Given the description of an element on the screen output the (x, y) to click on. 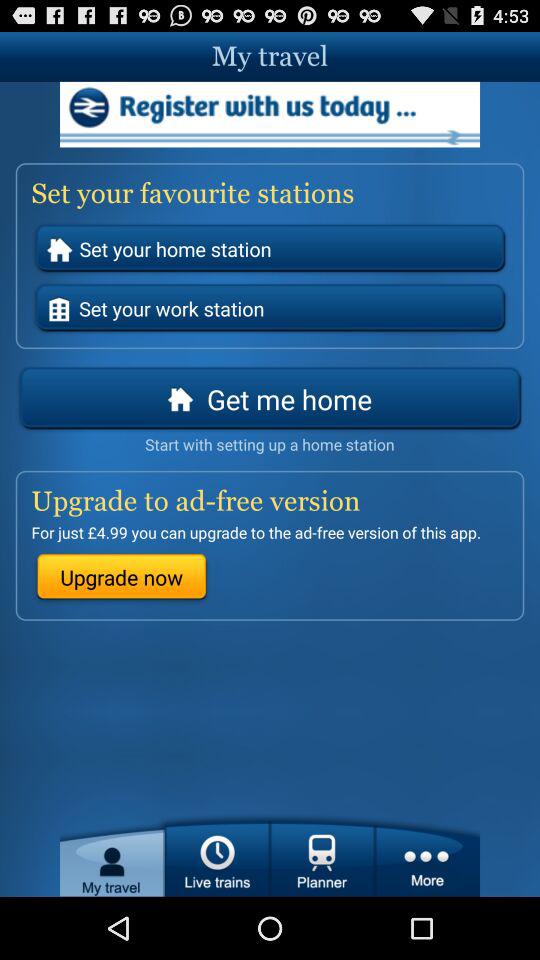
register (270, 114)
